Given the description of an element on the screen output the (x, y) to click on. 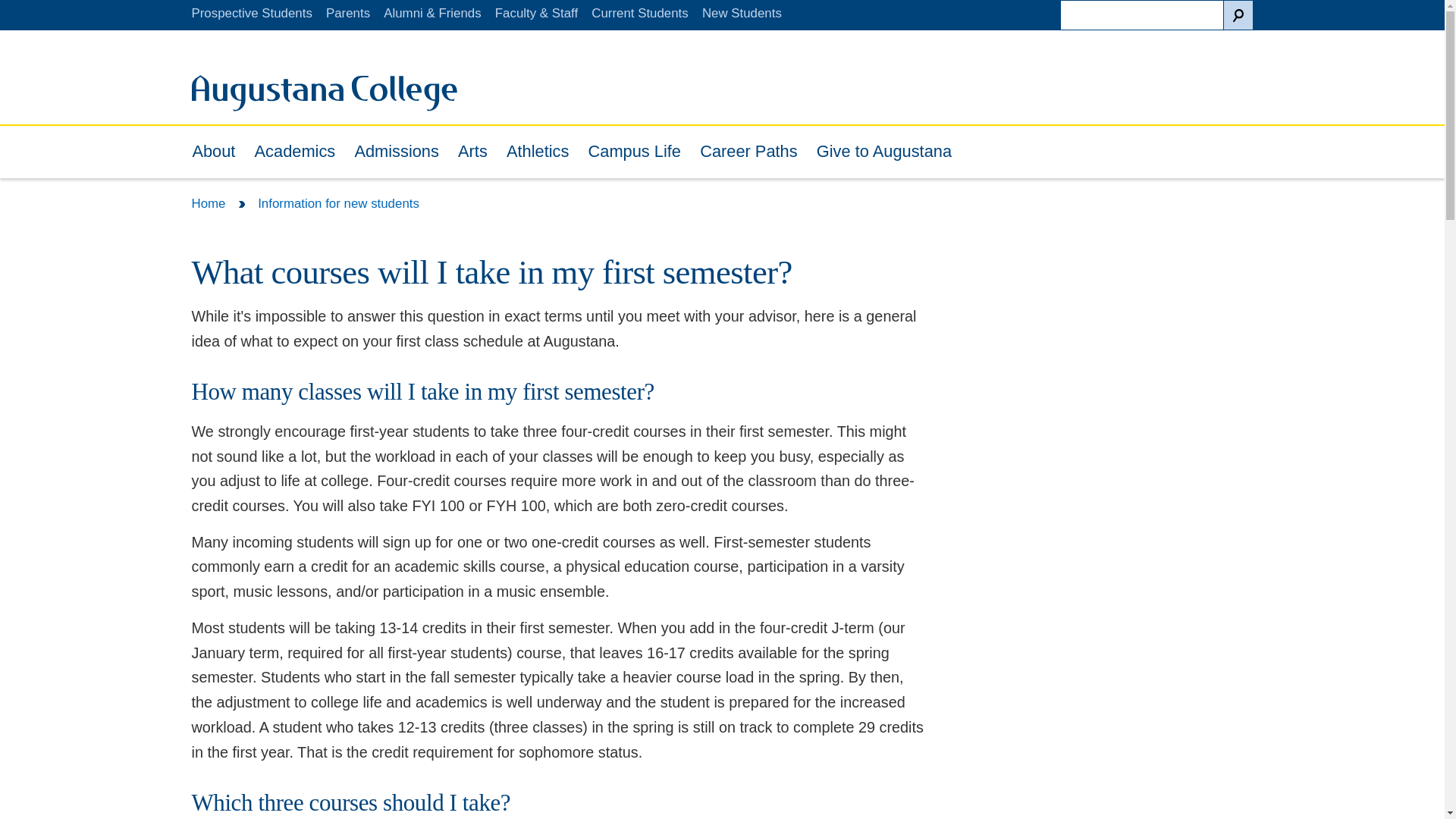
New Students (741, 12)
Academics (294, 152)
Prospective Students (250, 12)
About (213, 152)
Academics (294, 152)
About (213, 152)
Parents (347, 12)
Search (1238, 15)
